Given the description of an element on the screen output the (x, y) to click on. 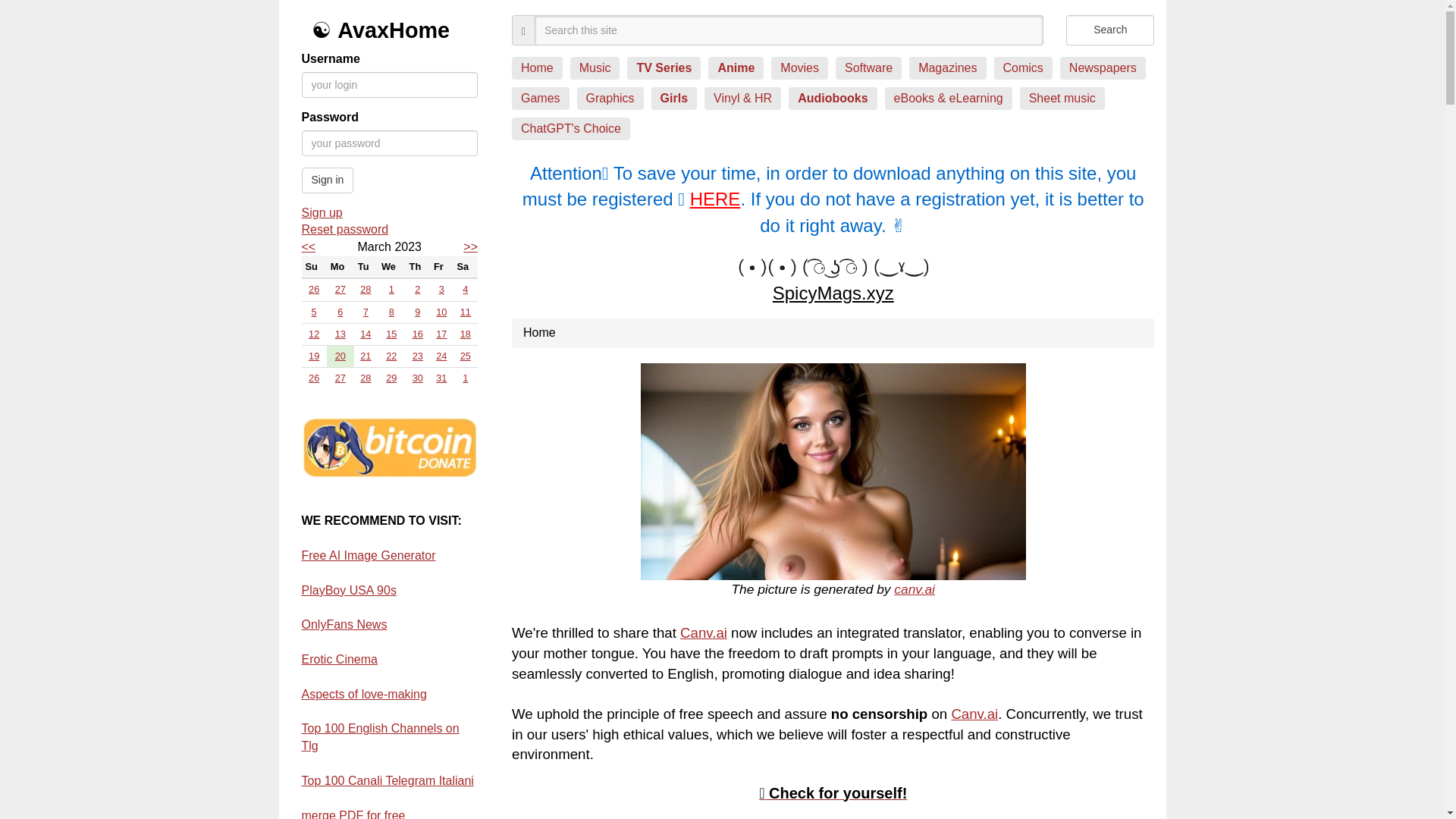
Sign up (390, 212)
26 (313, 288)
27 (340, 288)
Sign in (327, 180)
Reset password (390, 230)
28 (365, 288)
